Given the description of an element on the screen output the (x, y) to click on. 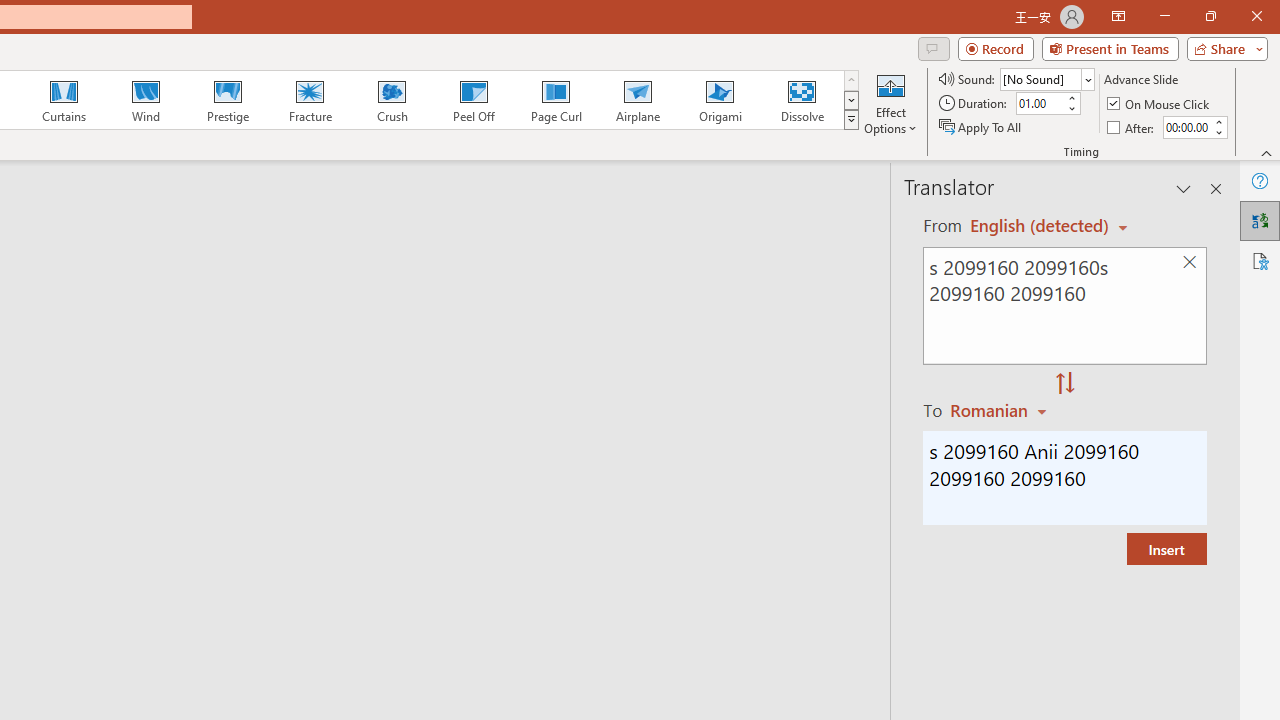
Romanian (1001, 409)
After (1186, 127)
Wind (145, 100)
More (1218, 121)
Fracture (309, 100)
Swap "from" and "to" languages. (1065, 383)
Prestige (227, 100)
Czech (detected) (1039, 225)
Effect Options (890, 102)
Apply To All (981, 126)
